Given the description of an element on the screen output the (x, y) to click on. 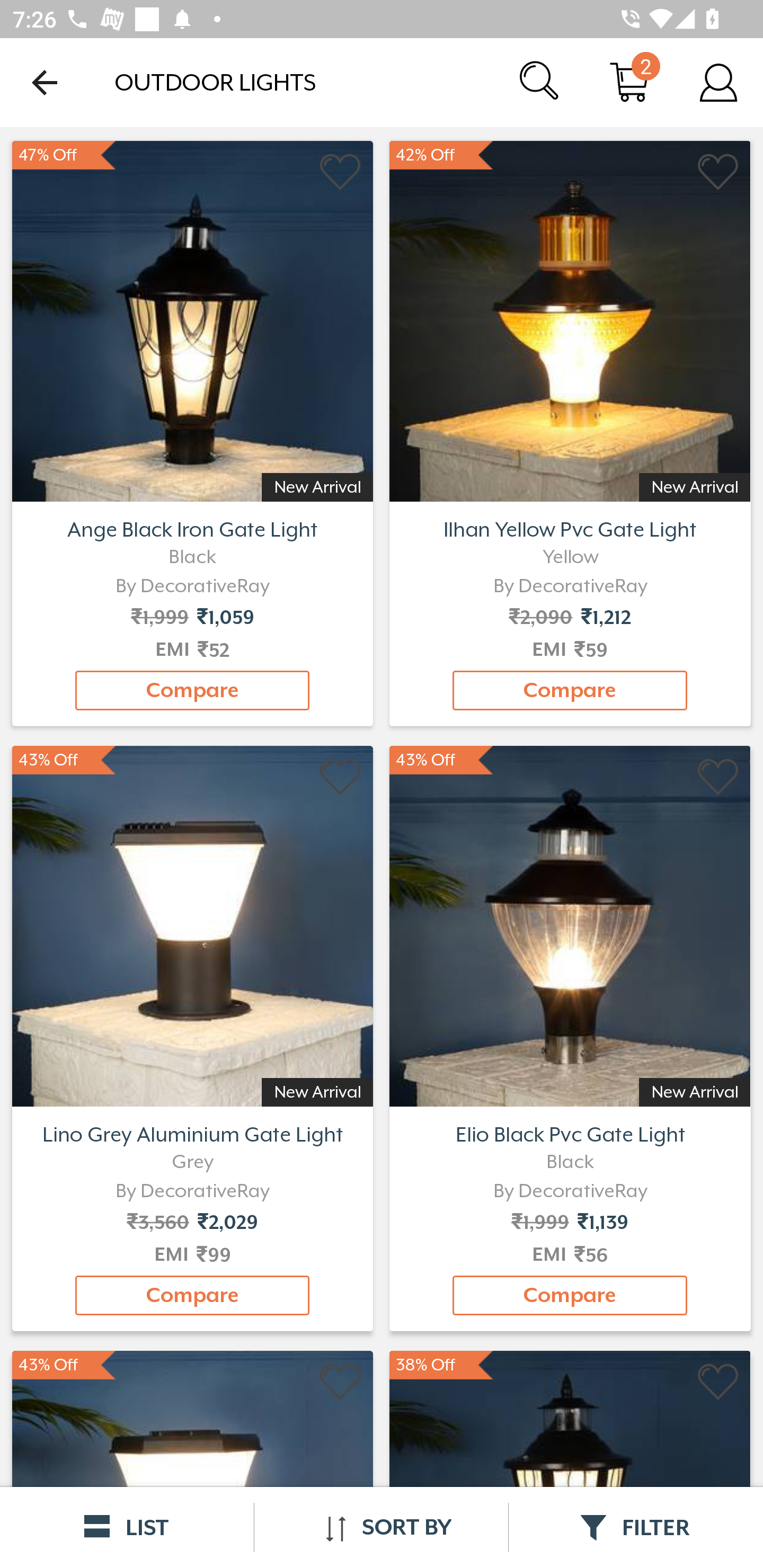
Navigate up (44, 82)
Search (540, 81)
Cart (629, 81)
Account Details (718, 81)
1574+ options Floor Lamps Starting from  ₹1,247 (191, 318)
2354+ options Table Lamps Starting from  ₹630 (570, 318)
 (341, 172)
 (718, 172)
Compare (192, 690)
Compare (569, 690)
 (341, 777)
 (718, 777)
Compare (192, 1295)
Compare (569, 1295)
 (341, 1382)
 (718, 1382)
 LIST (127, 1527)
SORT BY (381, 1527)
 FILTER (635, 1527)
